Given the description of an element on the screen output the (x, y) to click on. 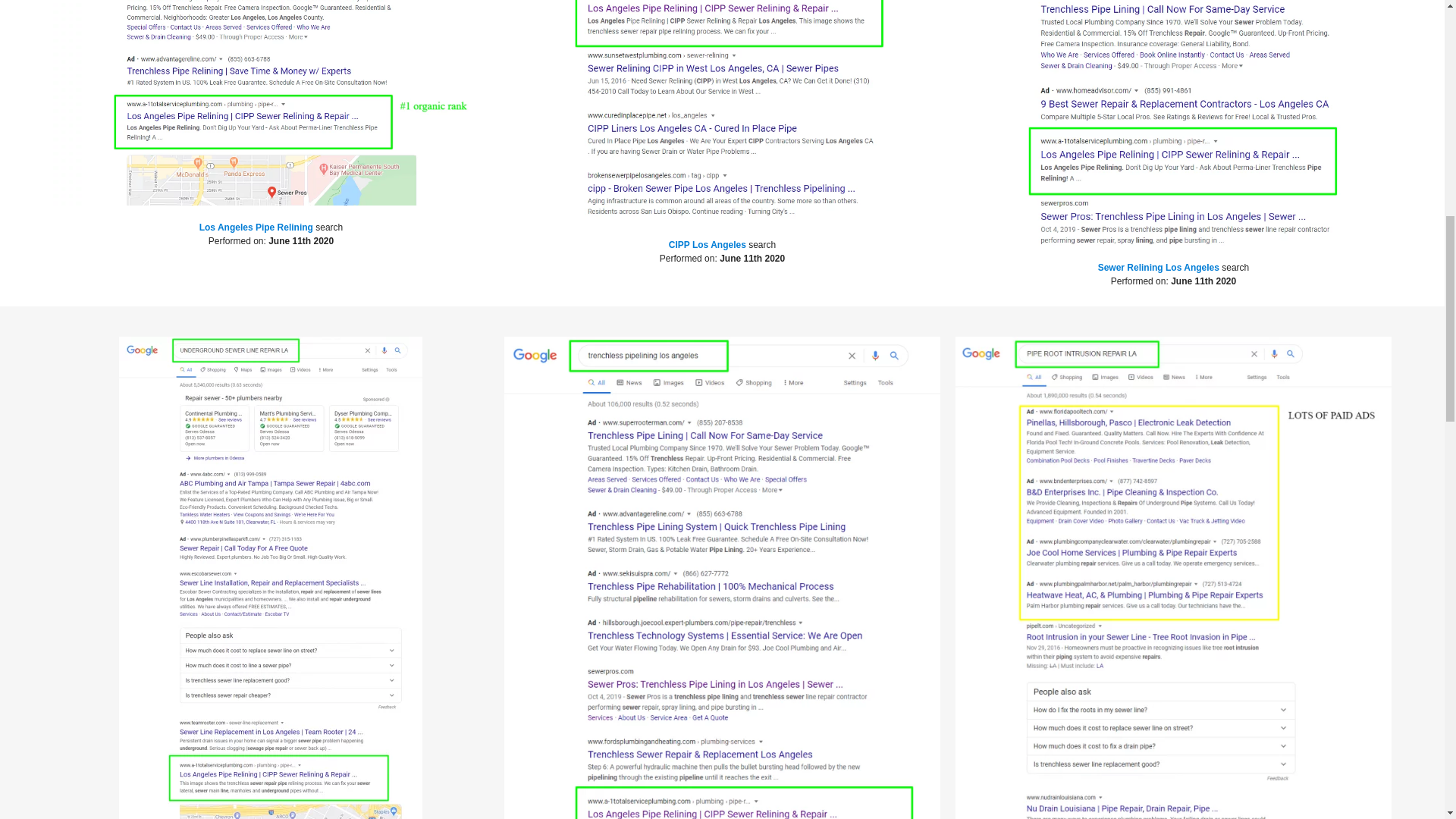
Sewer Relining Los Angeles (1158, 267)
Los Angeles Pipe Relining (256, 226)
CIPP Los Angeles (706, 244)
